Given the description of an element on the screen output the (x, y) to click on. 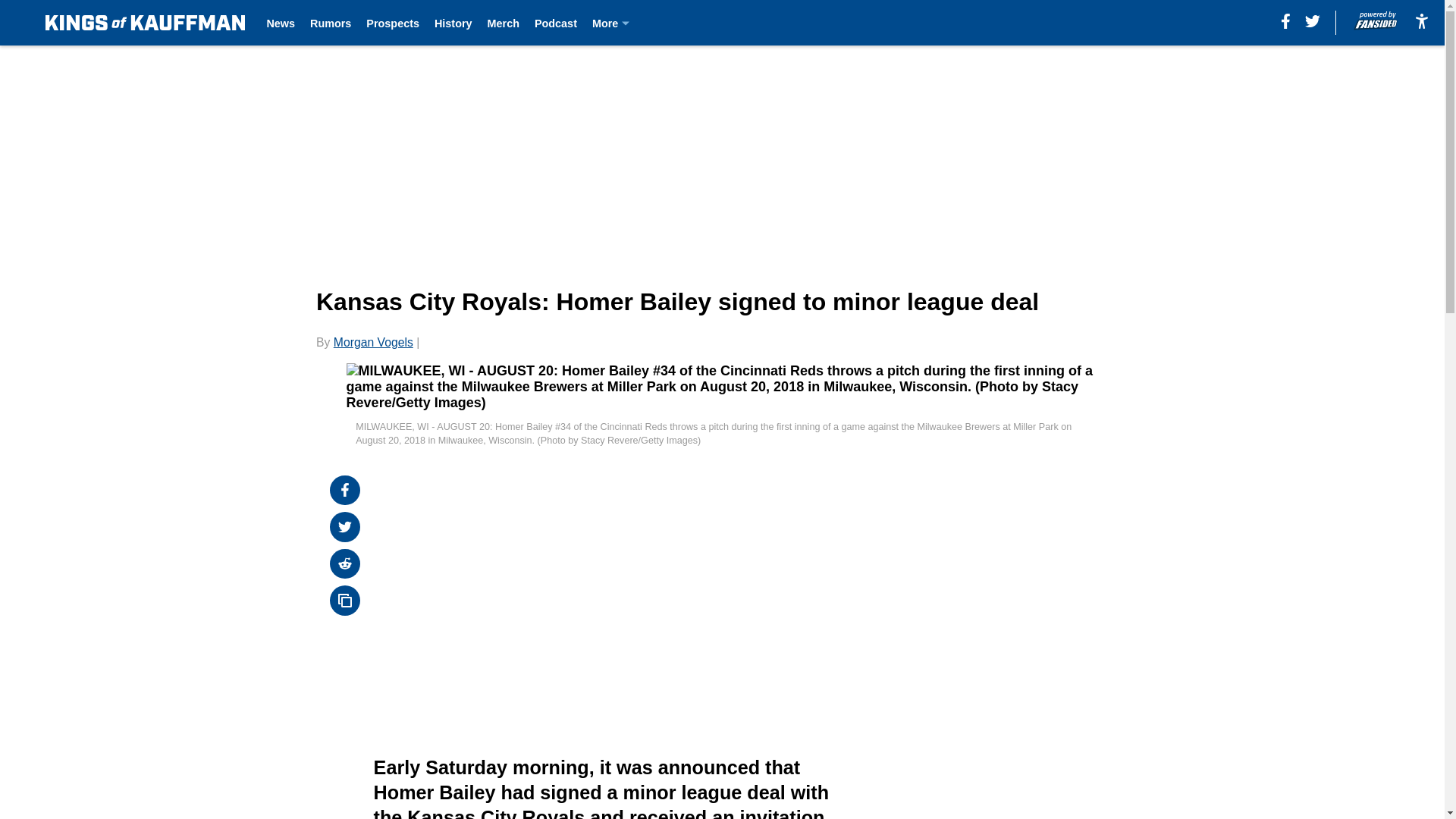
Prospects (392, 23)
History (452, 23)
Morgan Vogels (373, 341)
Podcast (555, 23)
Rumors (330, 23)
News (280, 23)
Merch (503, 23)
